Given the description of an element on the screen output the (x, y) to click on. 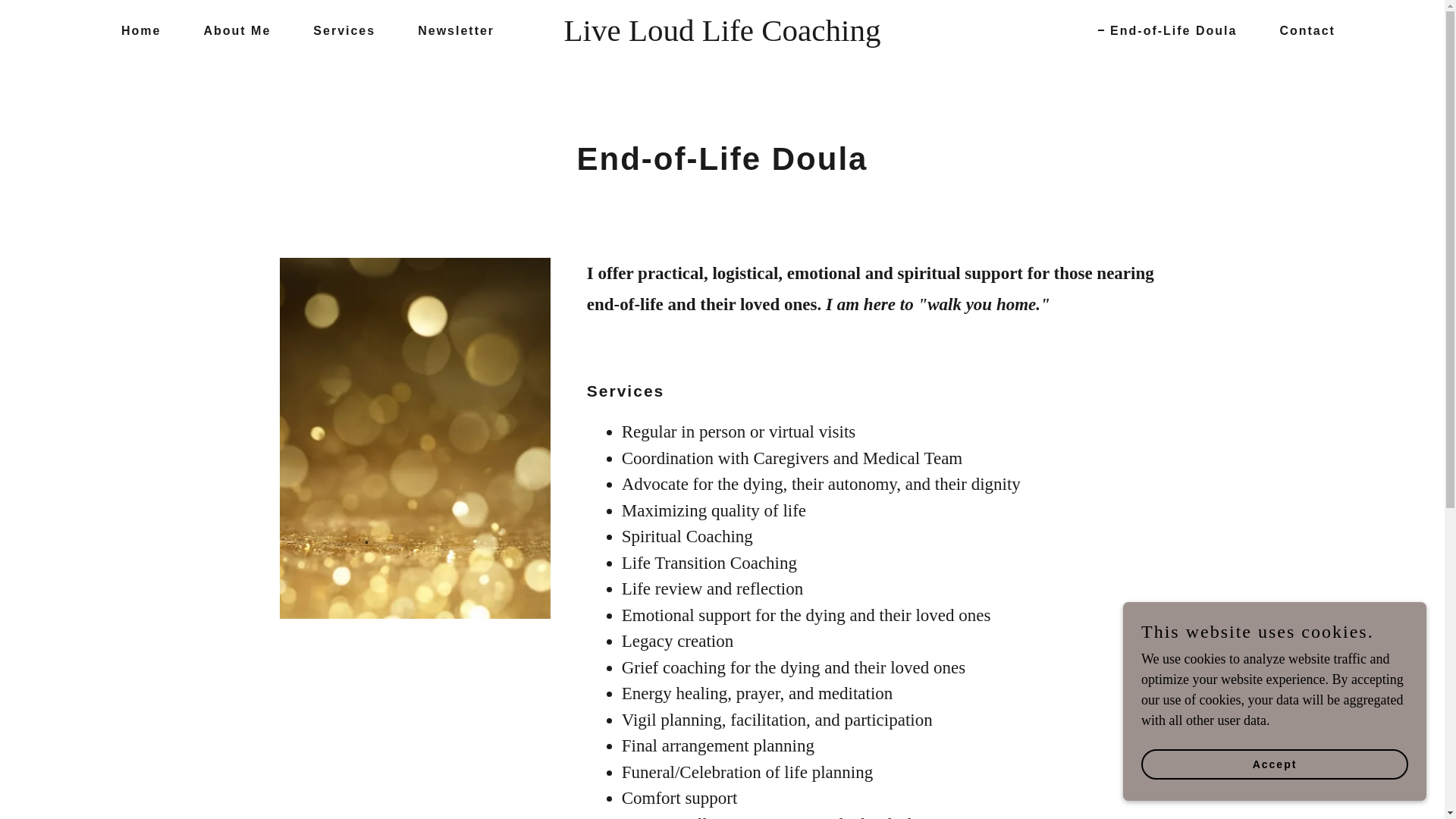
Live Loud Life Coaching (722, 36)
Newsletter (450, 31)
Accept (1274, 764)
Home (134, 31)
Contact (1300, 31)
End-of-Life Doula (1166, 31)
About Me (230, 31)
Live Loud Life Coaching (722, 36)
Services (338, 31)
